Given the description of an element on the screen output the (x, y) to click on. 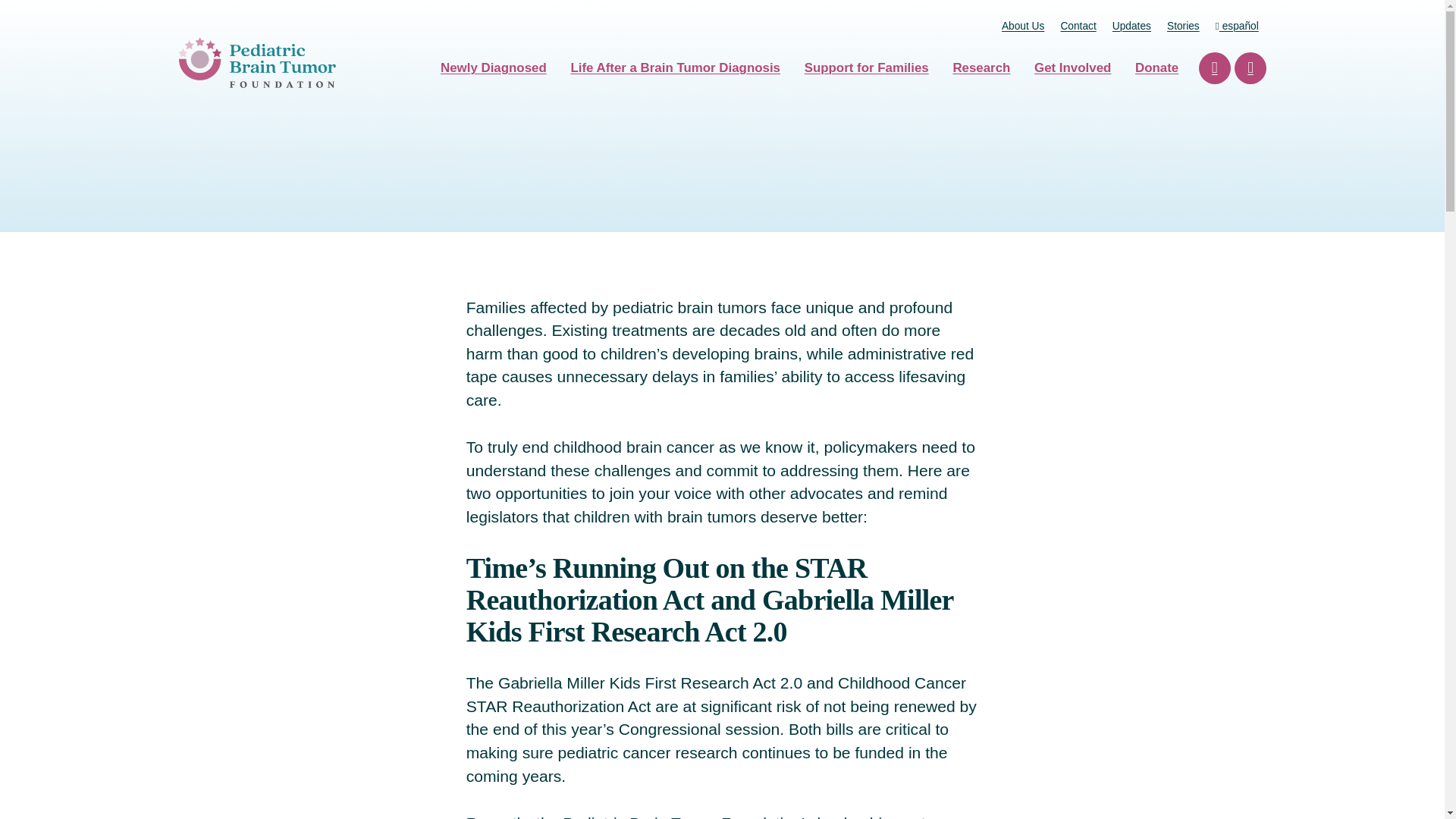
Get Involved (1072, 67)
Stories (1182, 26)
Newly Diagnosed (492, 67)
Research (981, 67)
Support for Families (866, 67)
Donate (1156, 67)
About Us (1022, 26)
Life After a Brain Tumor Diagnosis (675, 67)
Contact (1077, 26)
Updates (1130, 26)
